Given the description of an element on the screen output the (x, y) to click on. 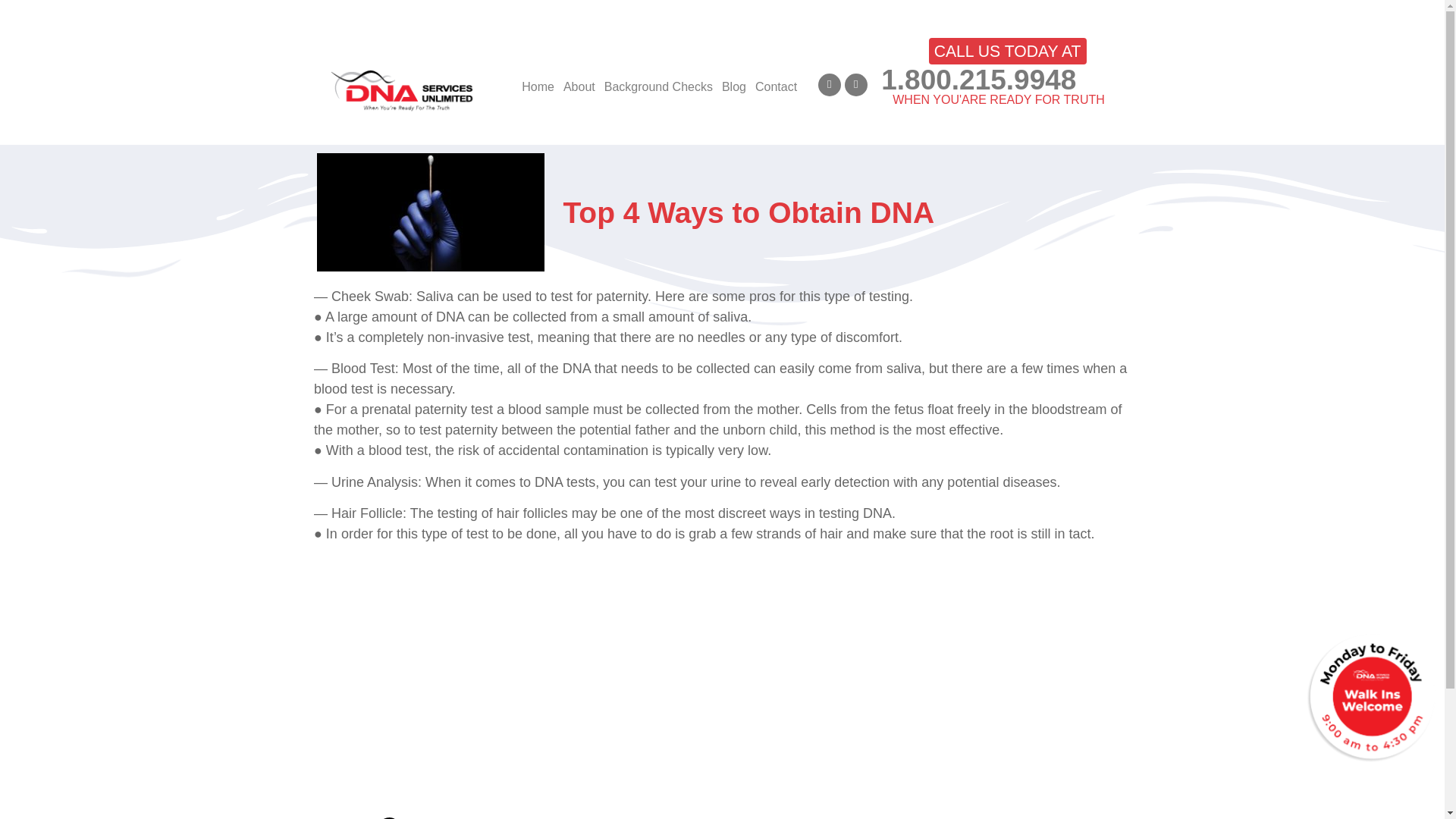
Background Checks (401, 86)
About (308, 86)
CALL US TODAY AT (1007, 50)
1.800.215.9948 (977, 79)
Blog (485, 86)
Contact (544, 86)
Home (255, 86)
